Given the description of an element on the screen output the (x, y) to click on. 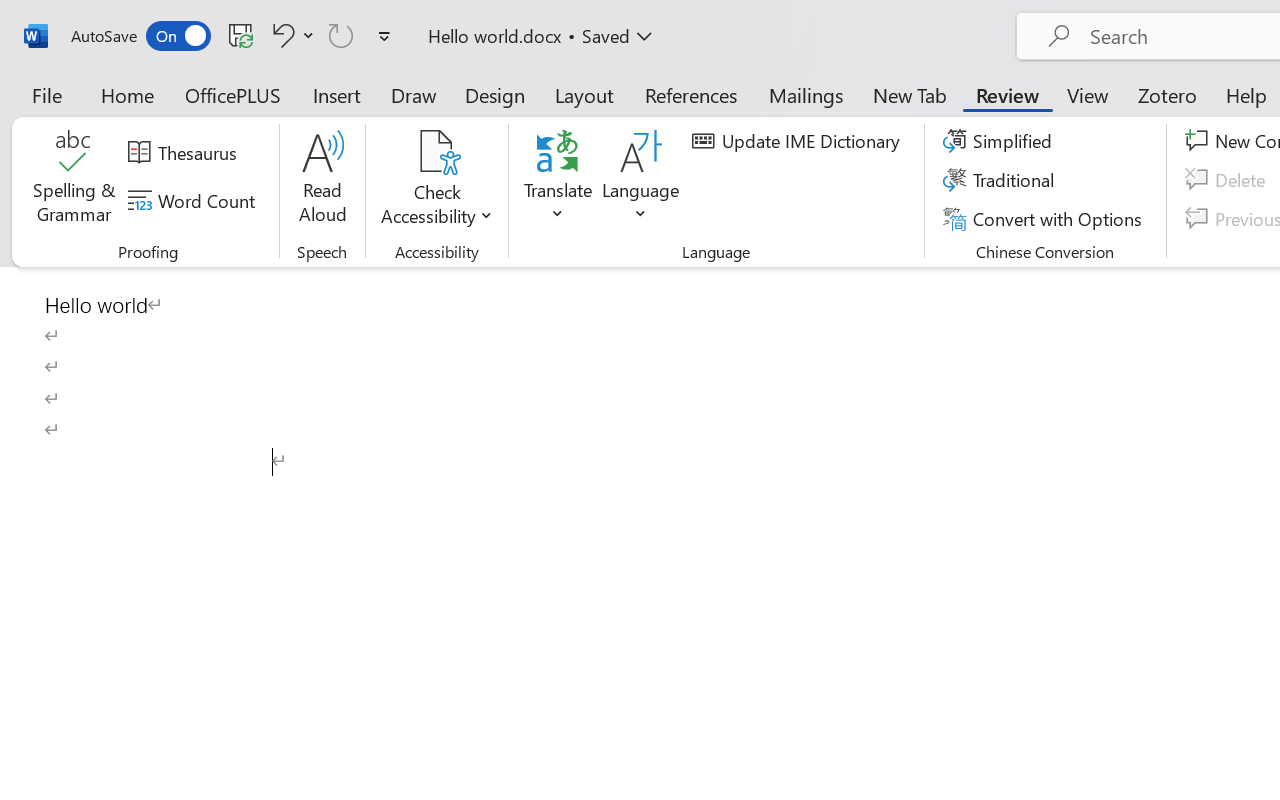
Audio (341, 114)
Export to Video (585, 114)
From Beginning... (158, 114)
Learn More (646, 114)
From Current Slide... (224, 114)
Reset to Cameo (474, 114)
Preview (30, 114)
